Given the description of an element on the screen output the (x, y) to click on. 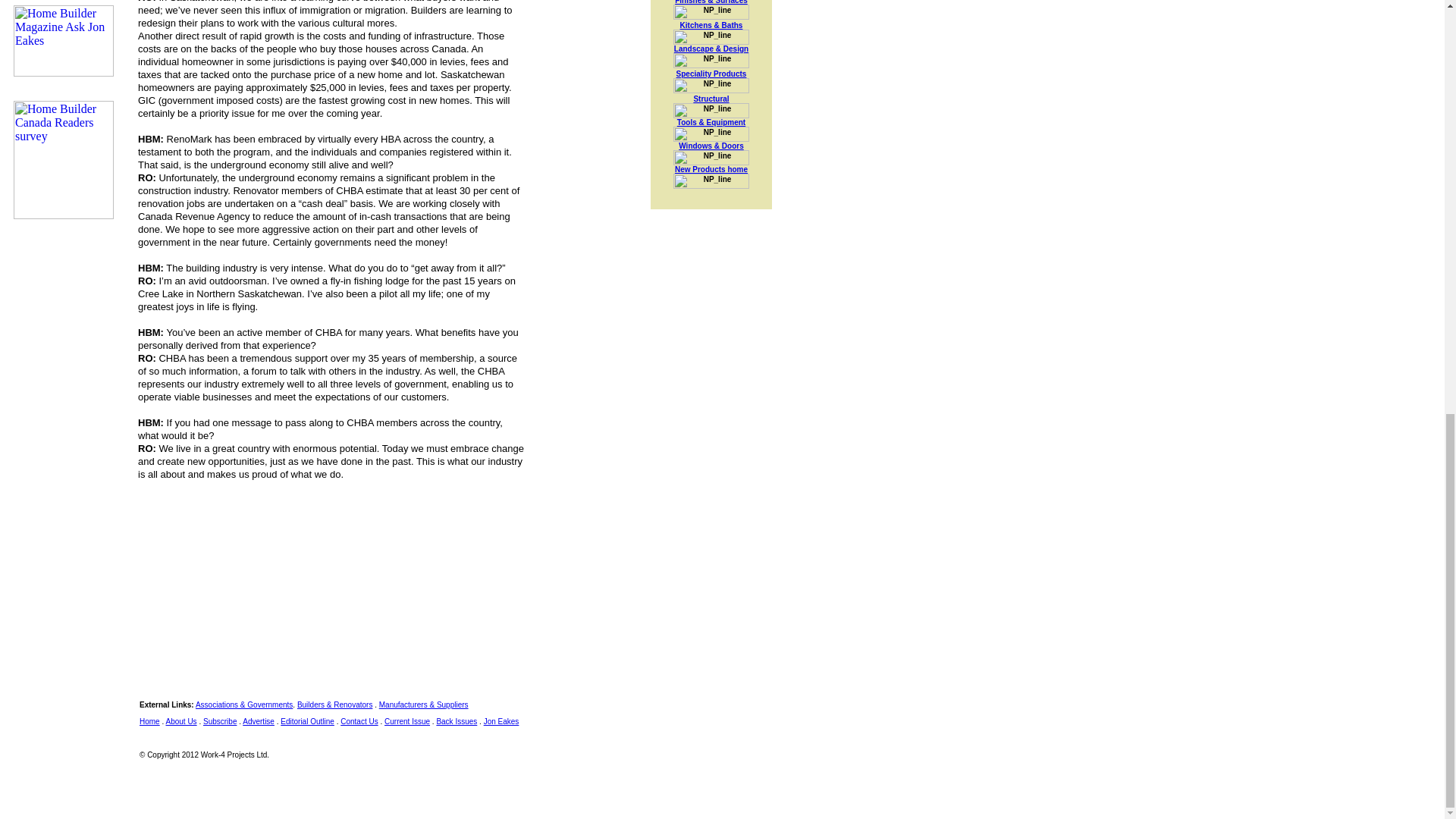
Current Issue (406, 721)
Advertise (259, 721)
Home (149, 721)
Subscribe (219, 721)
Speciality Products (711, 73)
Contact Us (358, 721)
Structural (711, 99)
About Us (180, 721)
New Products home (711, 169)
Editorial Outline (307, 721)
